Given the description of an element on the screen output the (x, y) to click on. 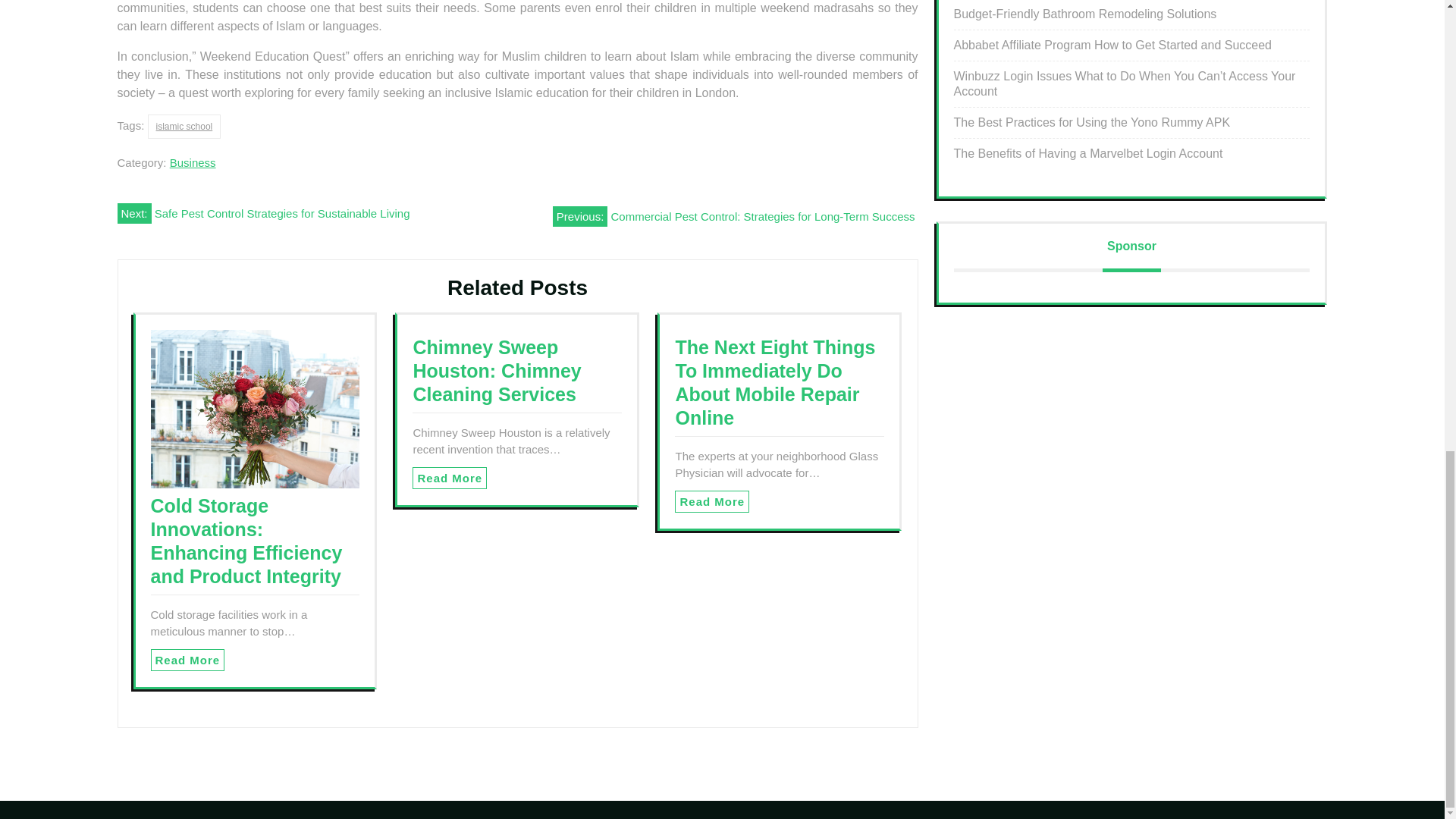
Read More (449, 477)
The Best Practices for Using the Yono Rummy APK (1091, 122)
Budget-Friendly Bathroom Remodeling Solutions (1085, 13)
Read More (449, 477)
Chimney Sweep Houston: Chimney Cleaning Services (496, 370)
Chimney Sweep Houston: Chimney Cleaning Services (496, 370)
Next: Safe Pest Control Strategies for Sustainable Living (262, 213)
Read More (712, 501)
